Given the description of an element on the screen output the (x, y) to click on. 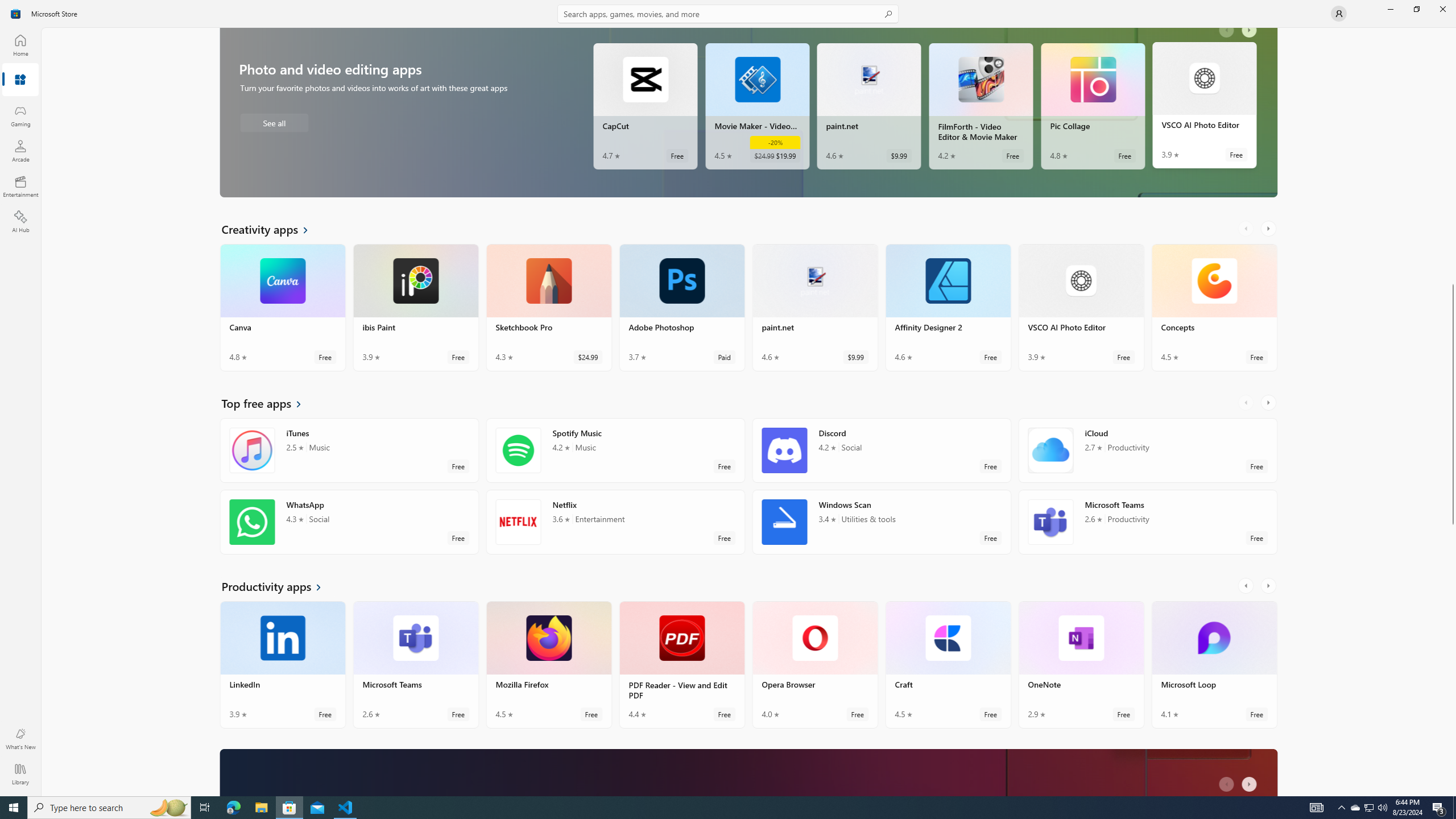
Concepts. Average rating of 4.5 out of five stars. Free   (1213, 311)
Vertical (1452, 412)
iTunes. Average rating of 2.5 out of five stars. Free   (349, 454)
AutomationID: RightScrollButton (1250, 784)
Search (727, 13)
Vertical Small Increase (1452, 792)
Pic Collage. Average rating of 4.8 out of five stars. Free   (1092, 108)
Discord. Average rating of 4.2 out of five stars. Free   (881, 454)
LinkedIn. Average rating of 3.9 out of five stars. Free   (282, 669)
